Given the description of an element on the screen output the (x, y) to click on. 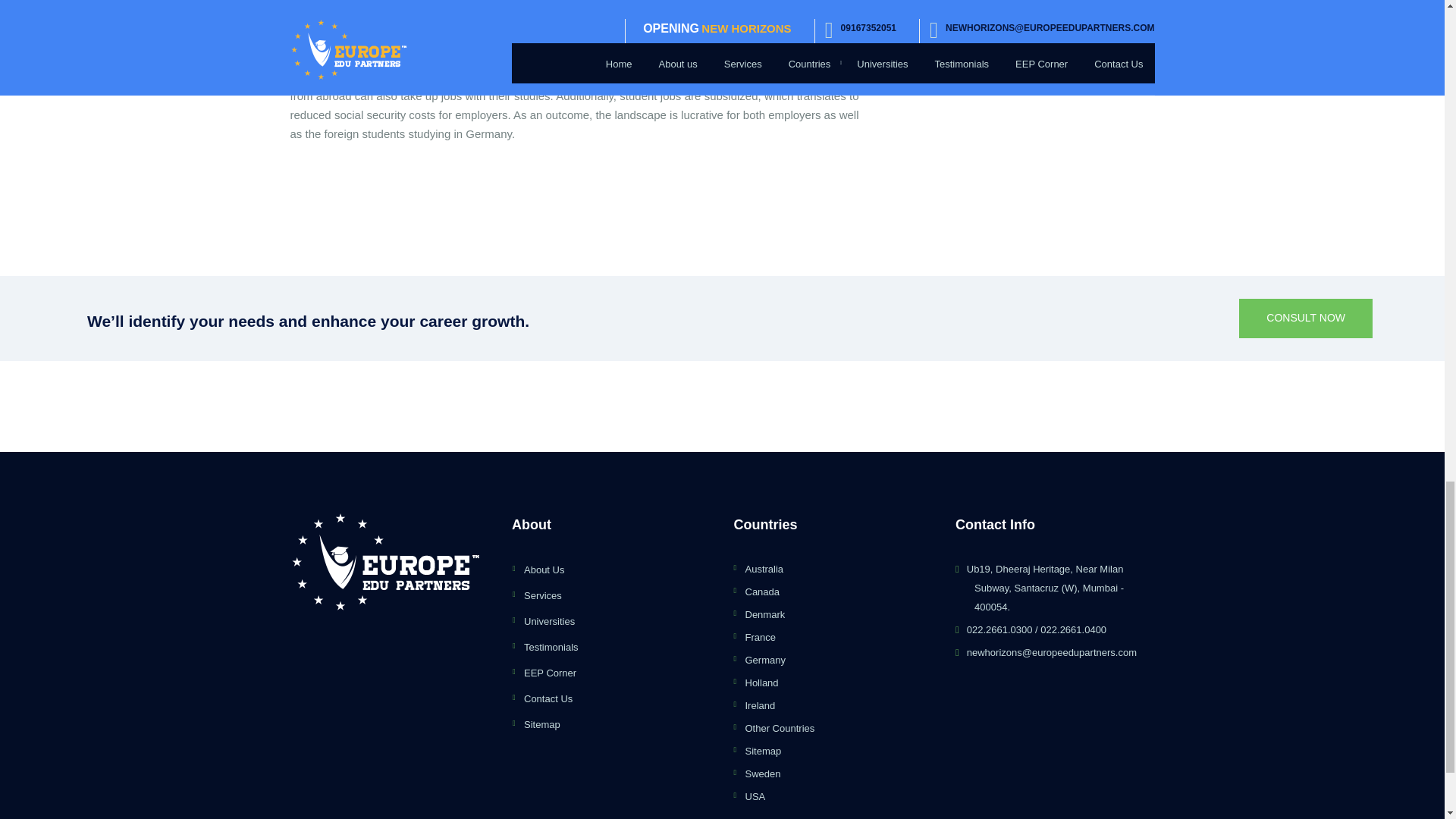
Sitemap (617, 723)
Australia (763, 568)
Contact Us (617, 698)
CONSULT NOW (1306, 318)
EEP Corner (617, 672)
Services (617, 595)
Testimonials (617, 647)
Universities (617, 620)
About Us (617, 569)
